Given the description of an element on the screen output the (x, y) to click on. 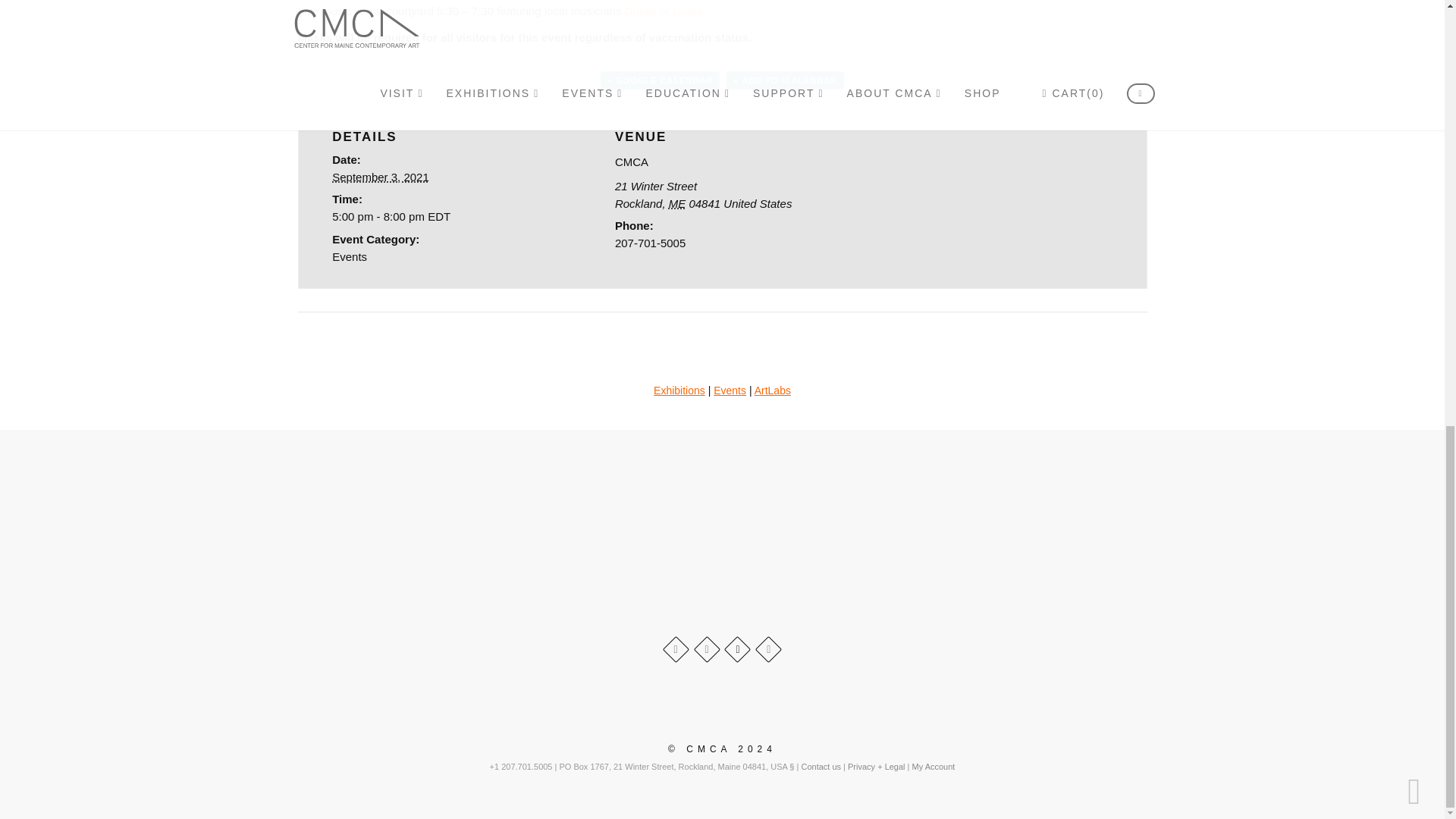
Add to Google Calendar (659, 80)
2021-09-03 (439, 217)
Download .ics file (785, 80)
Maine (676, 203)
2021-09-03 (380, 176)
